Given the description of an element on the screen output the (x, y) to click on. 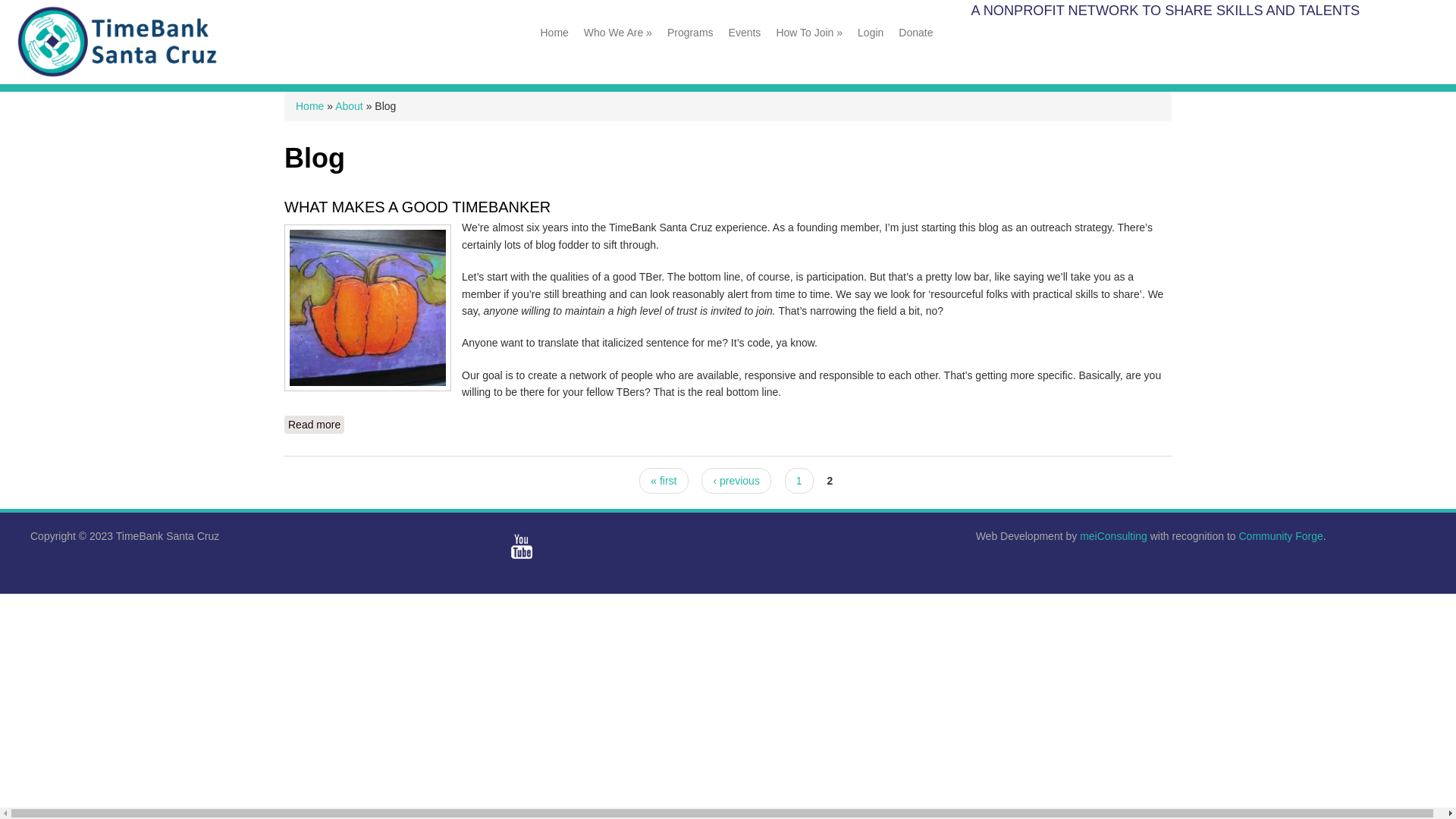
Login (870, 32)
Home (309, 105)
Community Forge (1280, 535)
WHAT MAKES A GOOD TIMEBANKER (313, 424)
Go to first page (313, 424)
Go to previous page (663, 480)
Home (735, 480)
Go to page 1 (122, 75)
meiConsulting (798, 480)
